Given the description of an element on the screen output the (x, y) to click on. 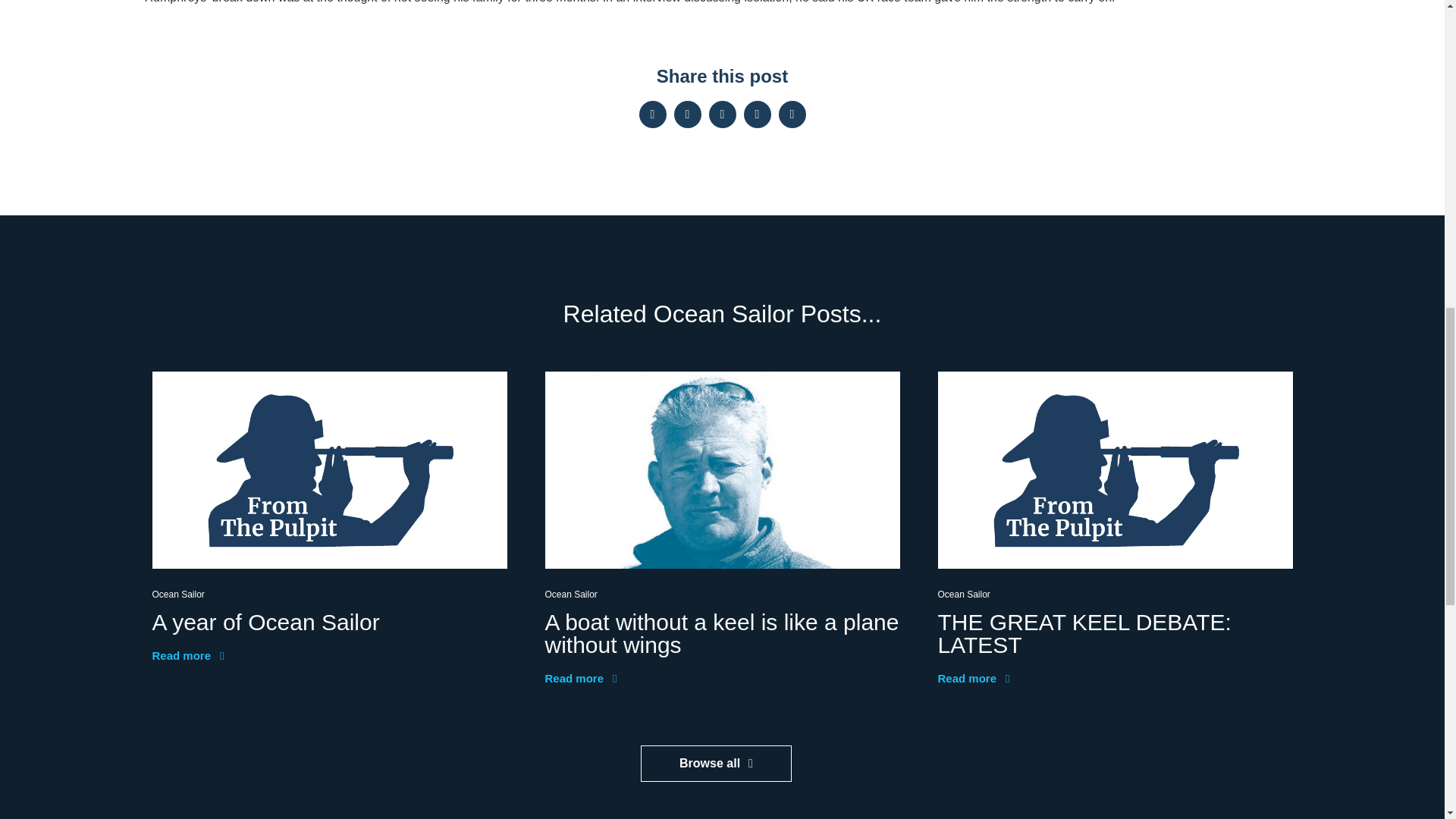
THE GREAT KEEL DEBATE: LATEST (1083, 633)
Browse all (716, 763)
A boat without a keel is like a plane without wings (721, 633)
Read more (579, 678)
Read more (973, 678)
Read more (187, 655)
A year of Ocean Sailor (264, 621)
